Given the description of an element on the screen output the (x, y) to click on. 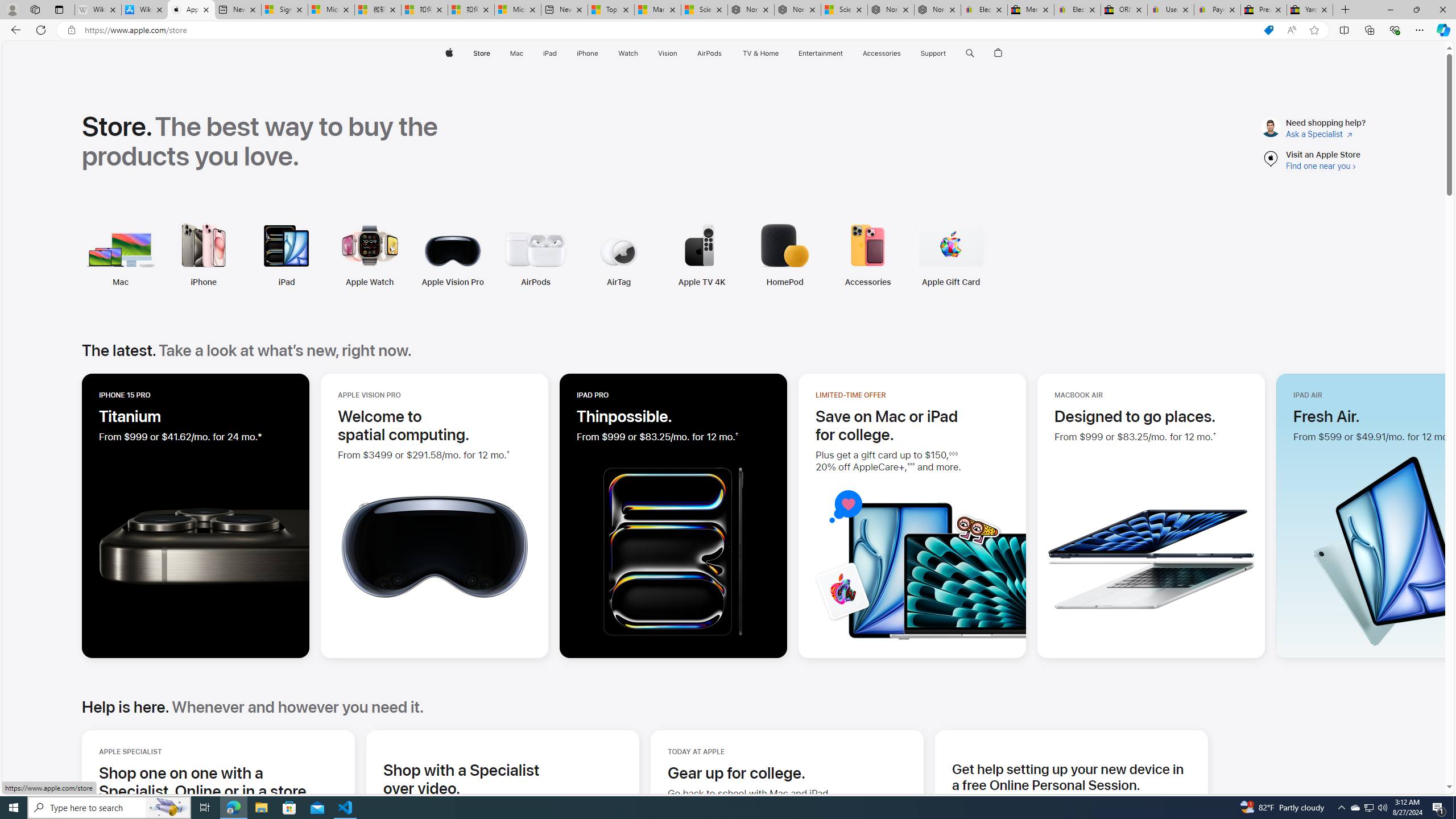
Entertainment menu (844, 53)
